Given the description of an element on the screen output the (x, y) to click on. 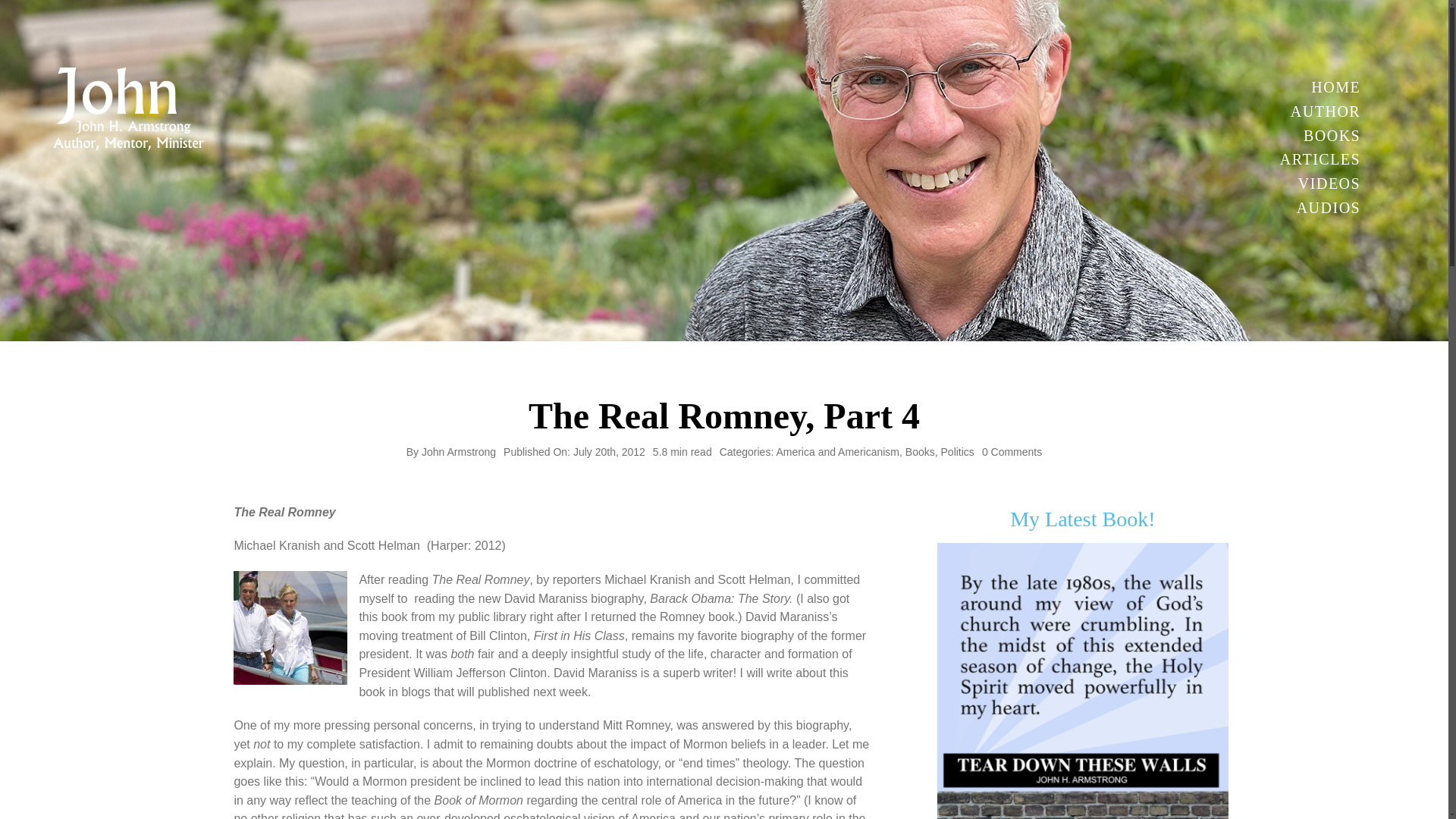
VIDEOS (1317, 183)
BOOKS (1317, 136)
ARTICLES (1317, 159)
HOME (1317, 87)
Posts by John Armstrong (459, 451)
America and Americanism (837, 451)
By the A-1 (1082, 680)
John Armstrong (459, 451)
Books (919, 451)
